Given the description of an element on the screen output the (x, y) to click on. 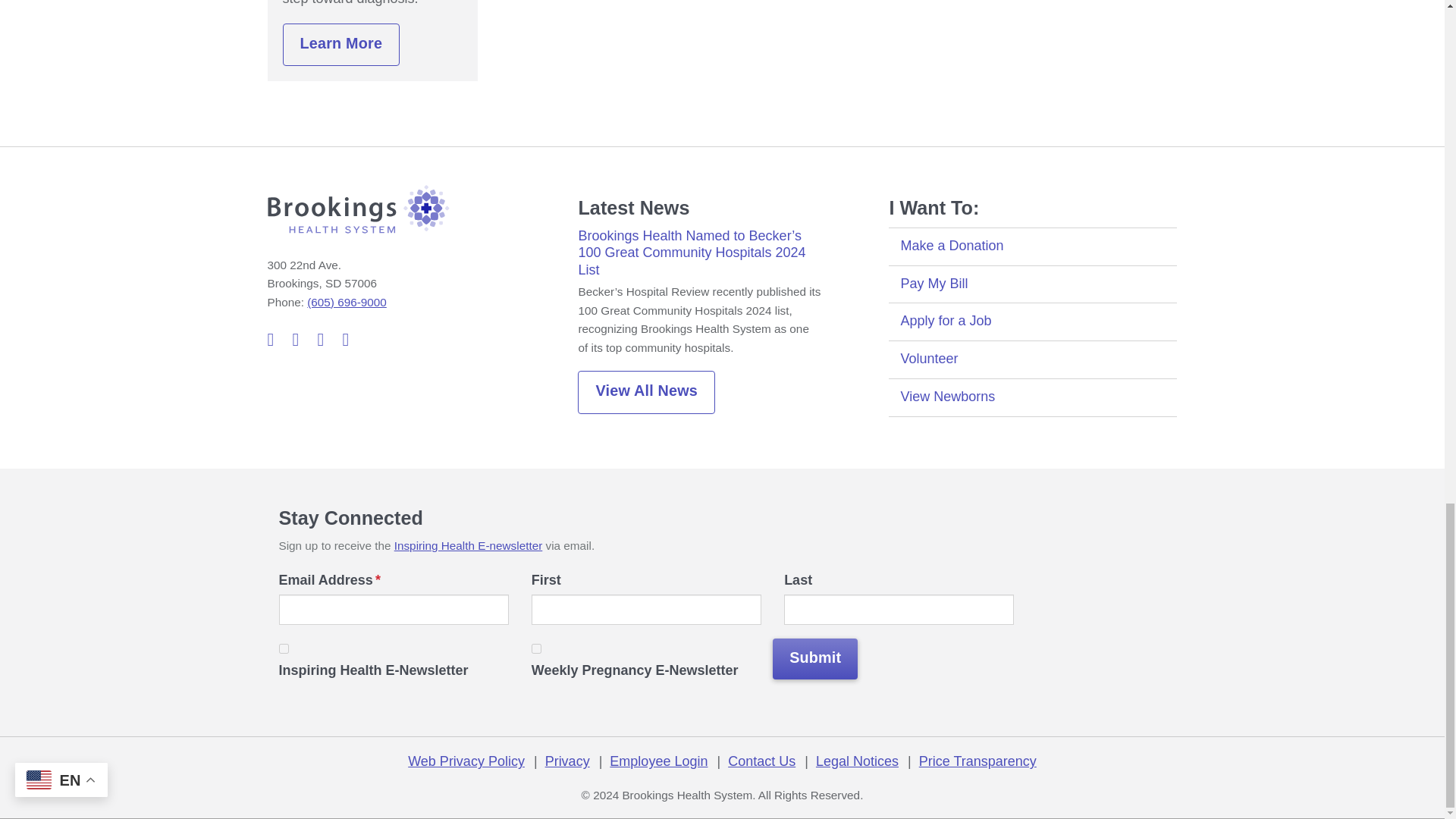
1 (283, 648)
Learn how to support our Foundation (1032, 246)
1 (536, 648)
Explore work opportunities with us (1032, 321)
Meet our newest, and sweetest, patients (1032, 397)
Submit (815, 659)
Pay your bill online (1032, 284)
Share your time with us (1032, 359)
